Given the description of an element on the screen output the (x, y) to click on. 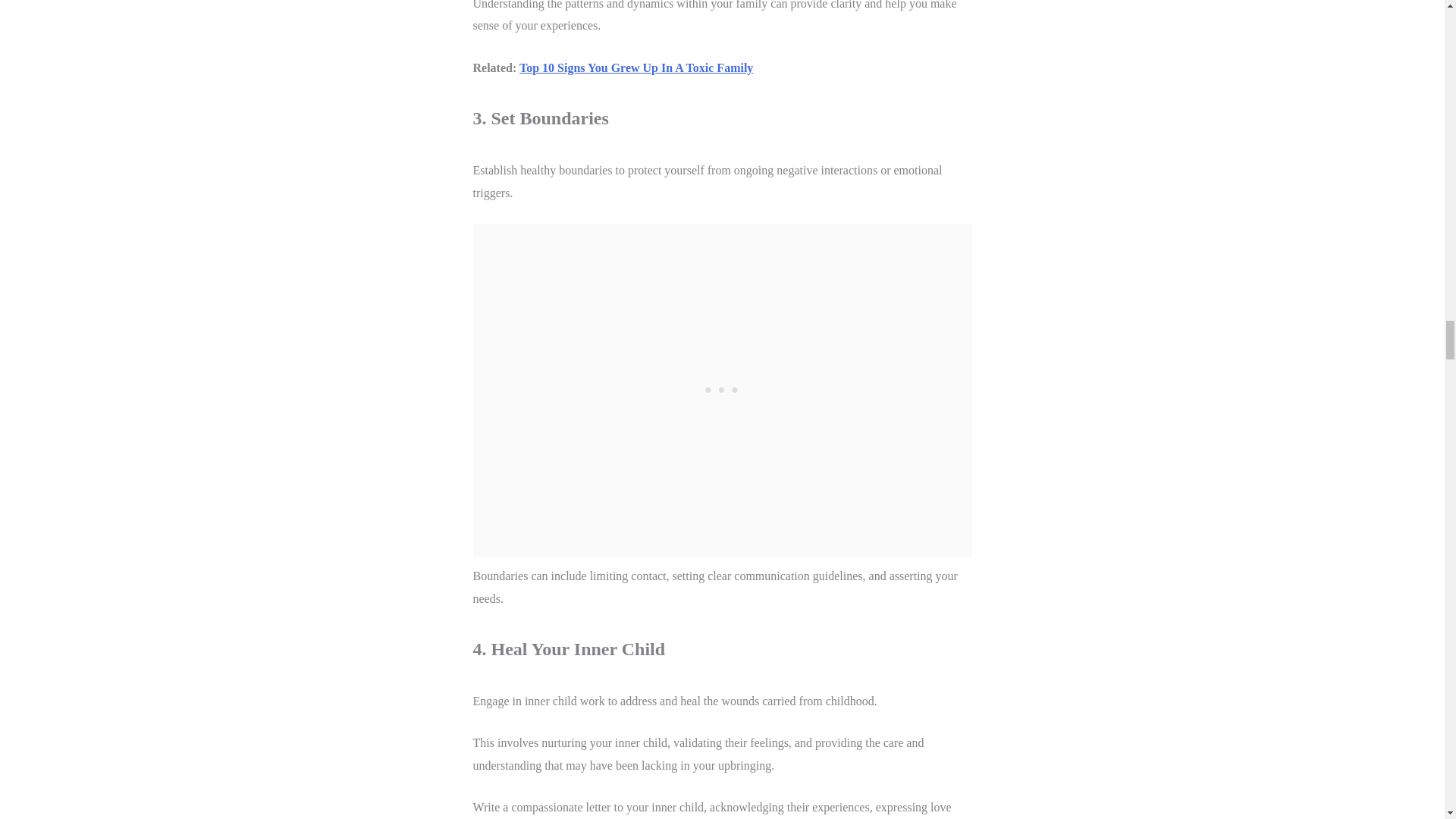
Top 10 Signs You Grew Up In A Toxic Family (635, 66)
